Given the description of an element on the screen output the (x, y) to click on. 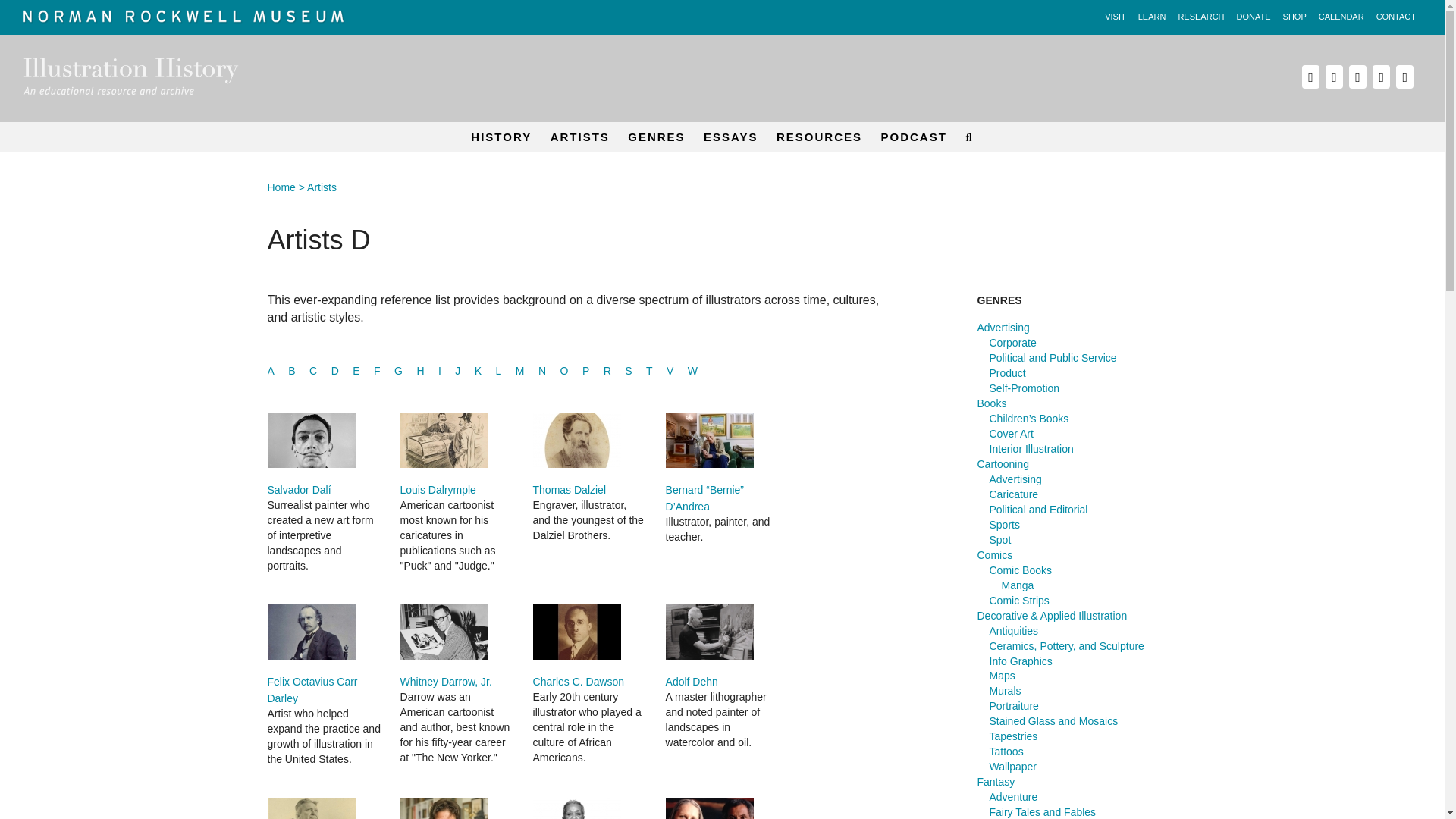
CONTACT (1396, 17)
DONATE (1253, 17)
HISTORY (500, 137)
RESEARCH (1201, 17)
CALENDAR (1341, 17)
LEARN (1152, 17)
VISIT (1115, 17)
SHOP (1294, 17)
